Given the description of an element on the screen output the (x, y) to click on. 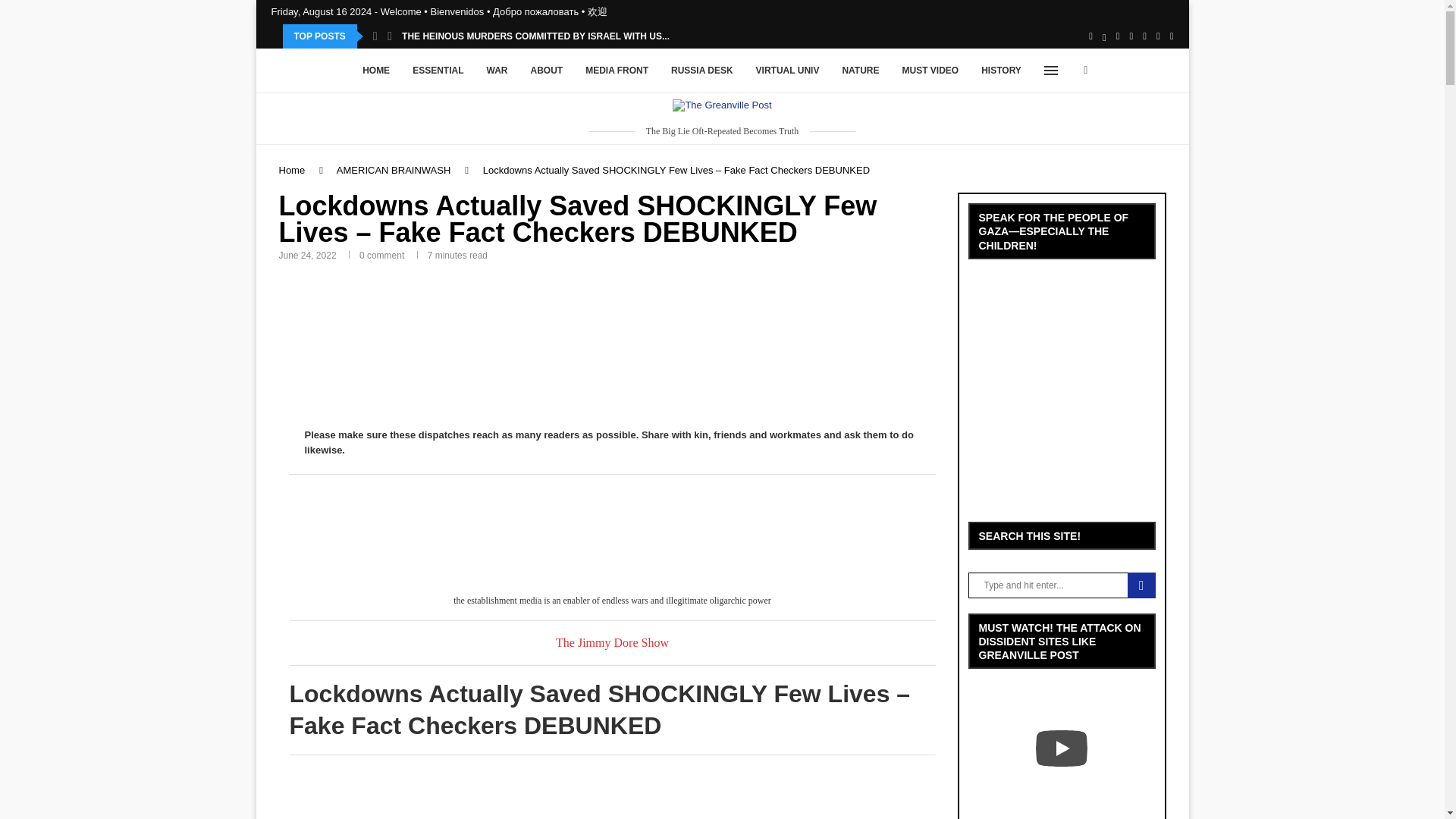
THE HEINOUS MURDERS COMMITTED BY ISRAEL WITH US... (535, 36)
Print Content (646, 344)
View PDF (403, 344)
